Given the description of an element on the screen output the (x, y) to click on. 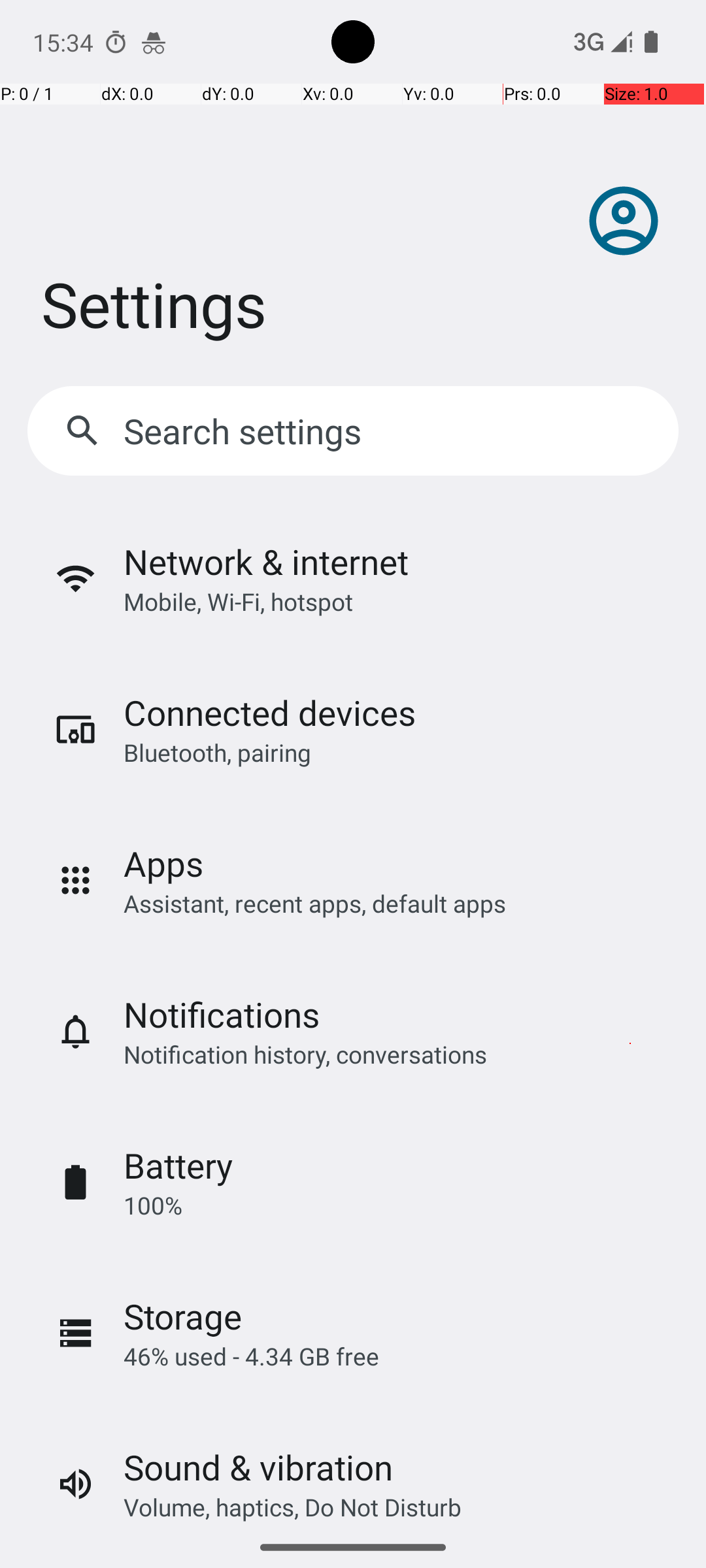
46% used - 4.34 GB free Element type: android.widget.TextView (251, 1355)
